Given the description of an element on the screen output the (x, y) to click on. 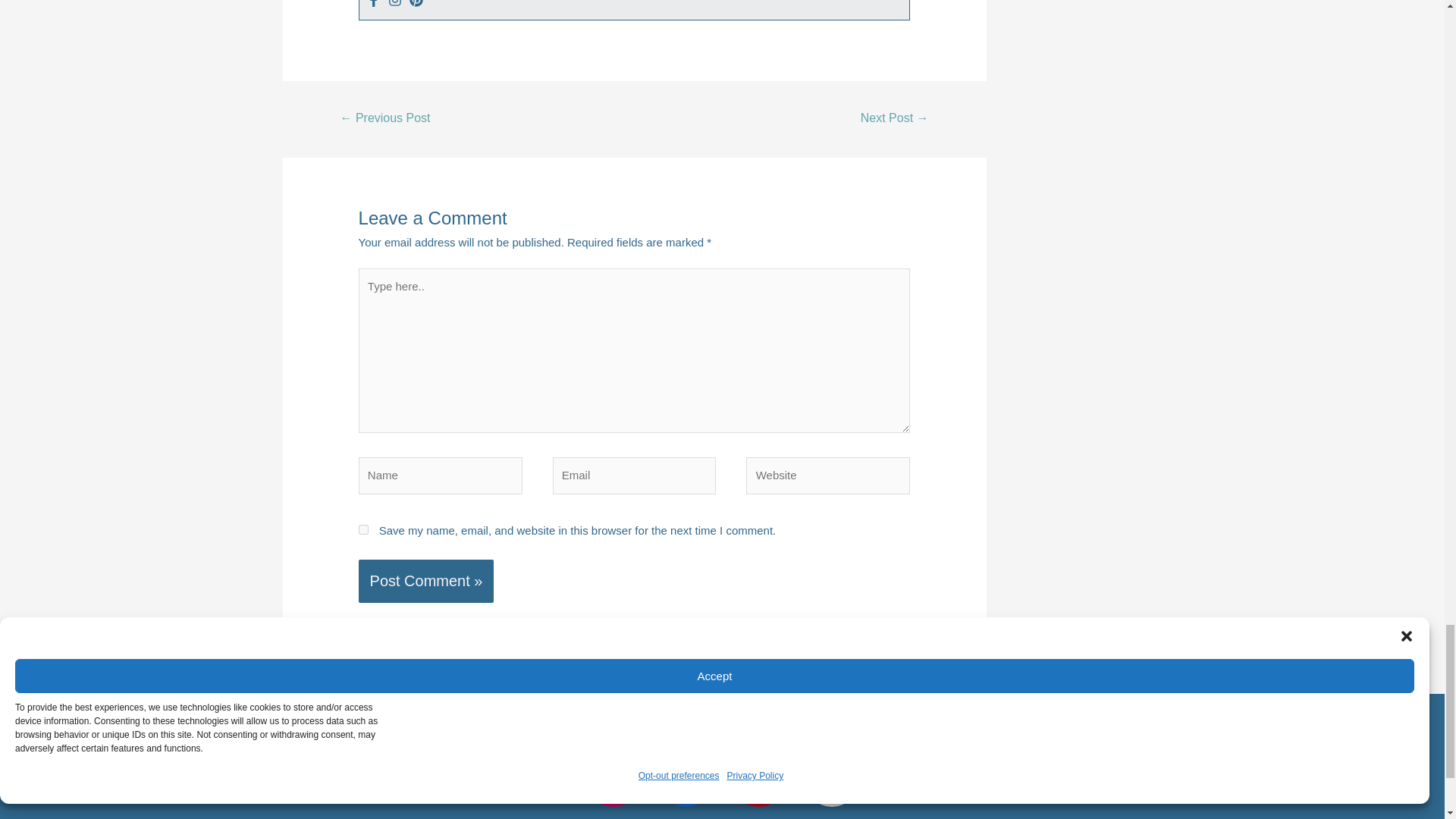
yes (363, 529)
Instagram (394, 3)
Pinterest (416, 3)
Sensory Play for Picky Eating (384, 119)
Phosphorus for Kids (895, 119)
Facebook (373, 3)
